Given the description of an element on the screen output the (x, y) to click on. 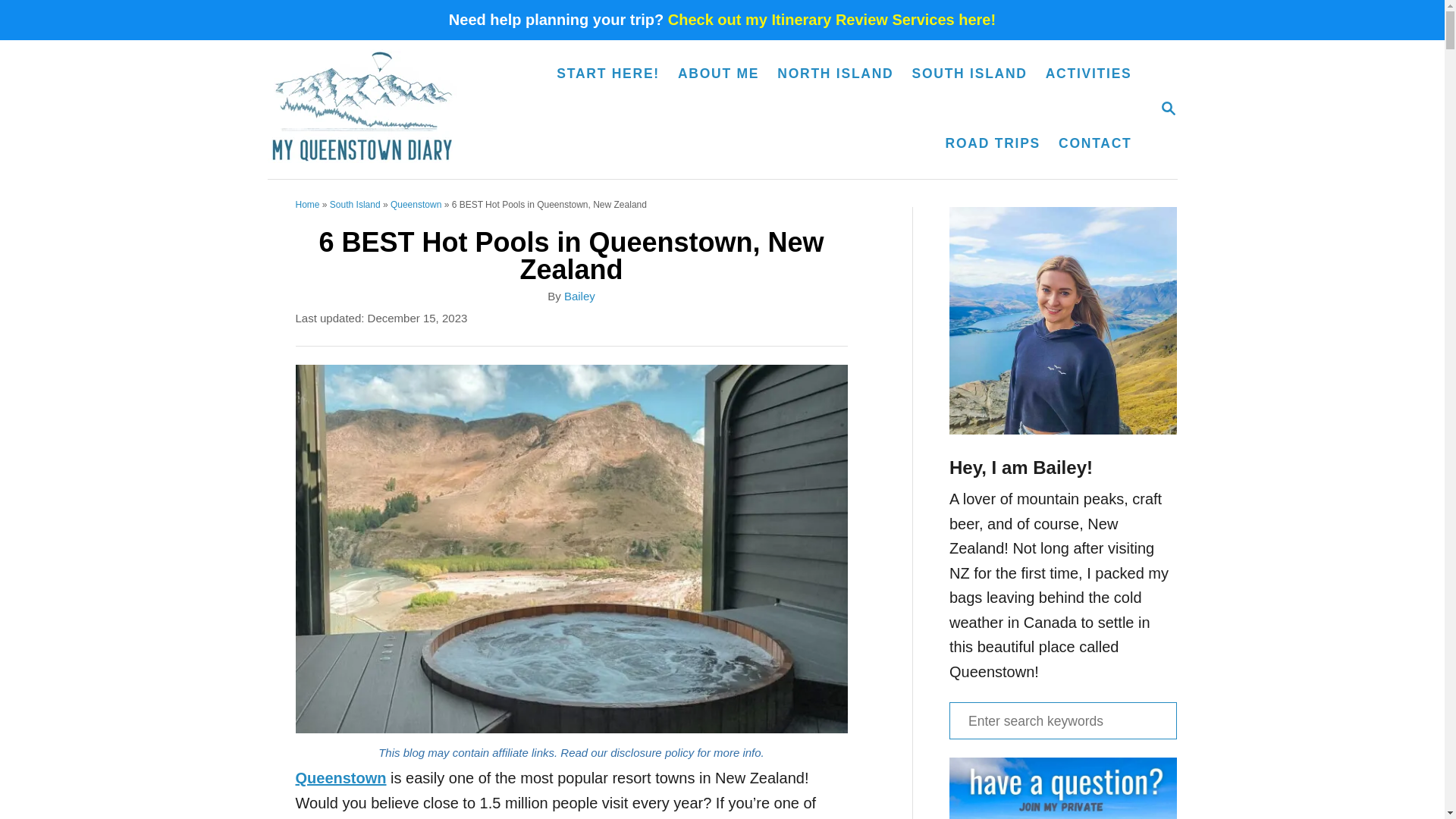
NORTH ISLAND (835, 73)
ABOUT ME (718, 73)
START HERE! (607, 73)
ACTIVITIES (1088, 73)
MAGNIFYING GLASS (1167, 108)
Search for: (1062, 720)
SOUTH ISLAND (968, 73)
Check out my Itinerary Review Services here! (831, 19)
My Queenstown Diary (370, 109)
